Given the description of an element on the screen output the (x, y) to click on. 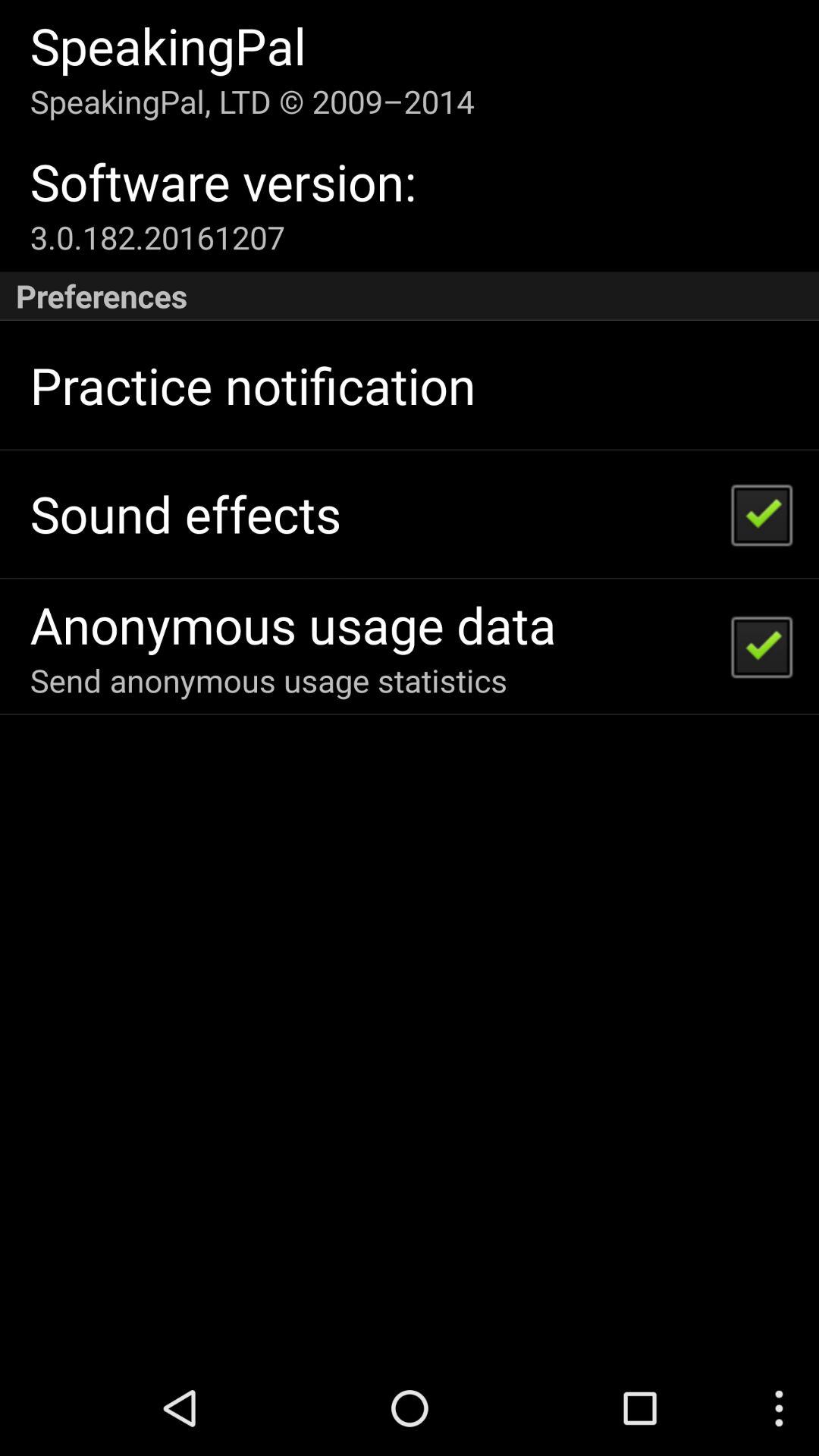
open sound effects app (185, 513)
